Given the description of an element on the screen output the (x, y) to click on. 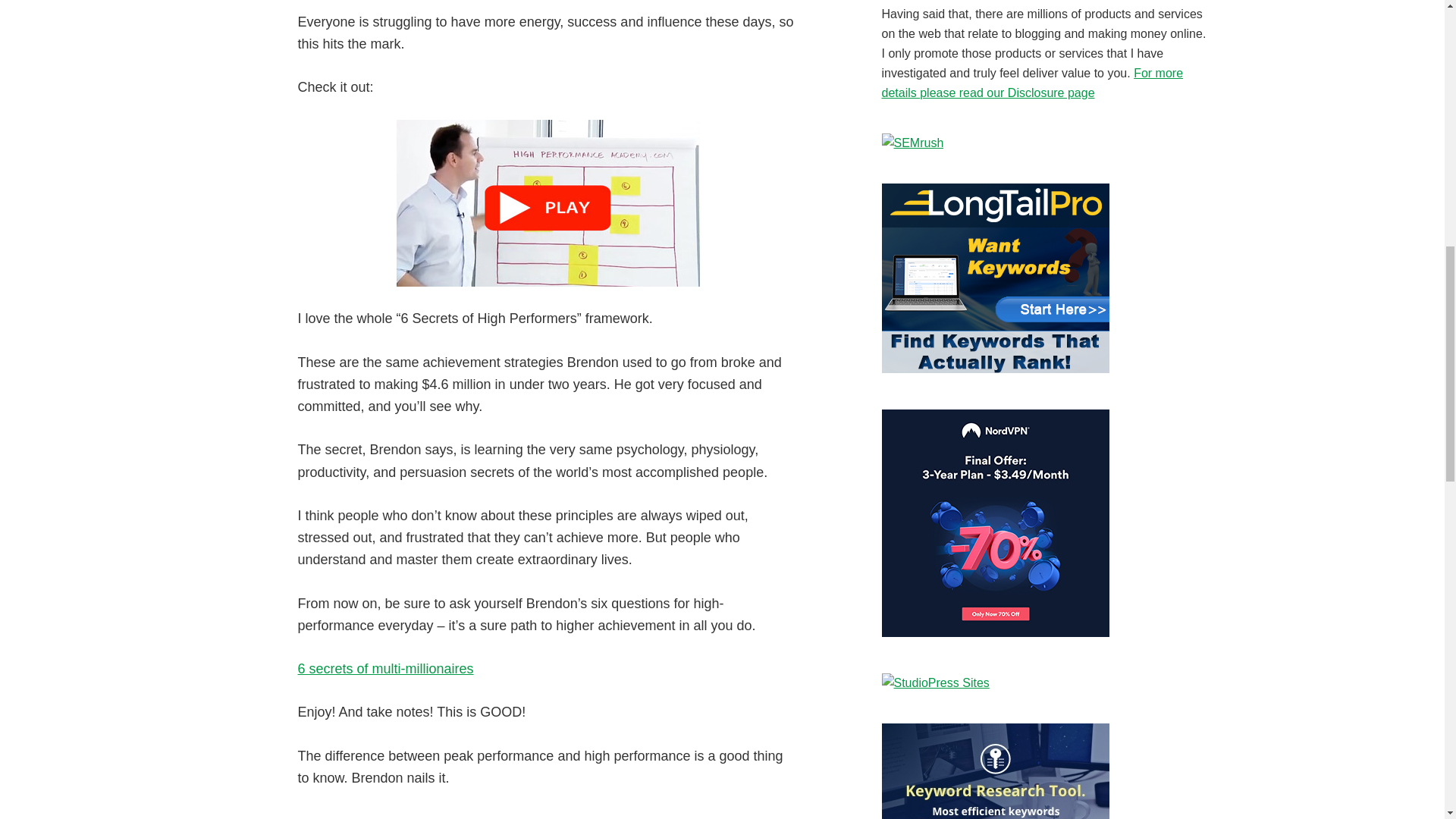
6 Secrets of multi-millionaires (385, 668)
For more details please read our Disclosure page (1031, 82)
6 Secrets (547, 202)
6 secrets of multi-millionaires (385, 668)
6 Secrets of multi-millionaires (547, 202)
